Given the description of an element on the screen output the (x, y) to click on. 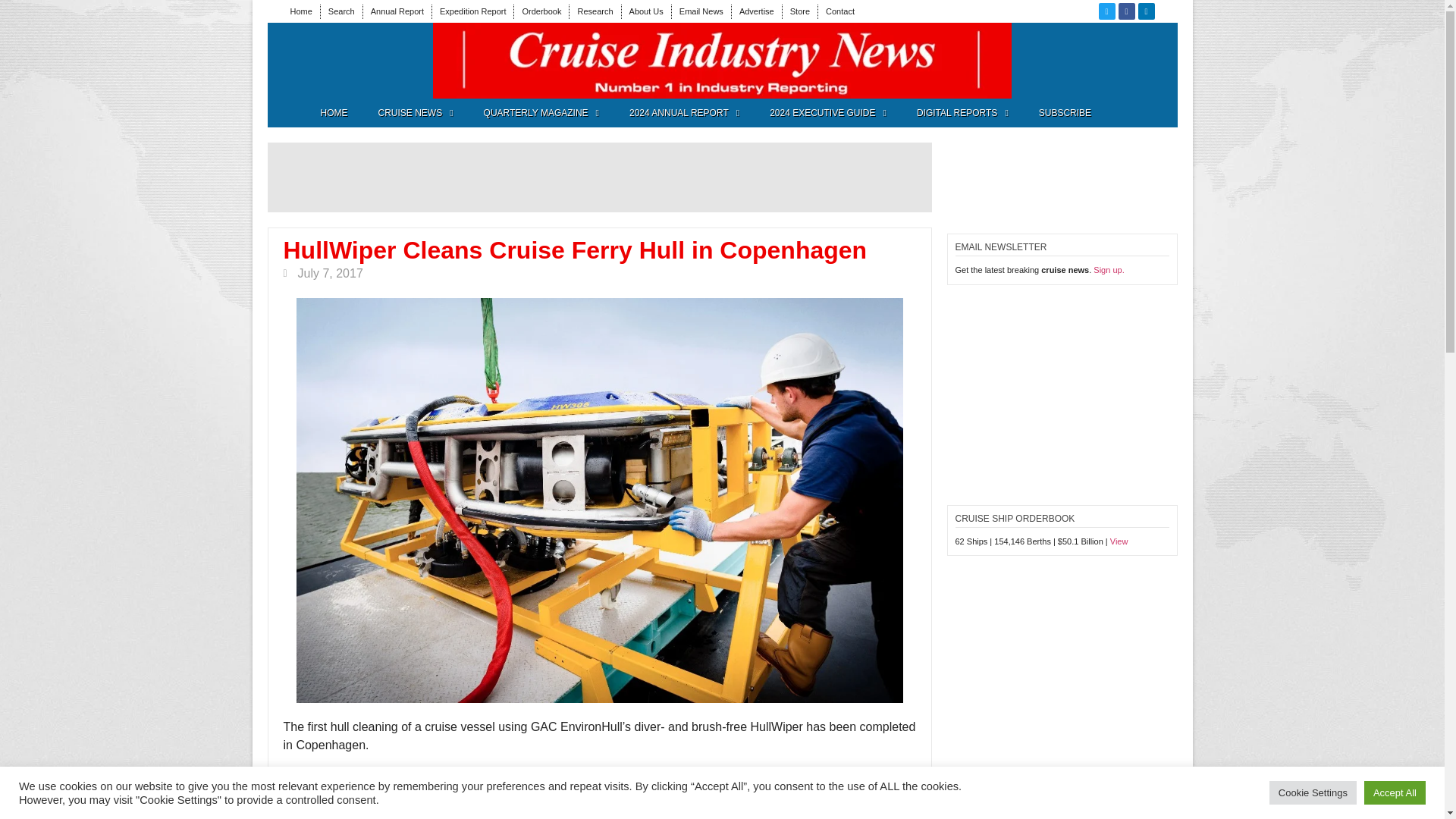
Research (594, 11)
Annual Report (397, 11)
Home (300, 11)
Orderbook (540, 11)
Search (342, 11)
Email News (701, 11)
QUARTERLY MAGAZINE (541, 112)
HOME (333, 112)
3rd party ad content (360, 60)
CRUISE NEWS (414, 112)
